Given the description of an element on the screen output the (x, y) to click on. 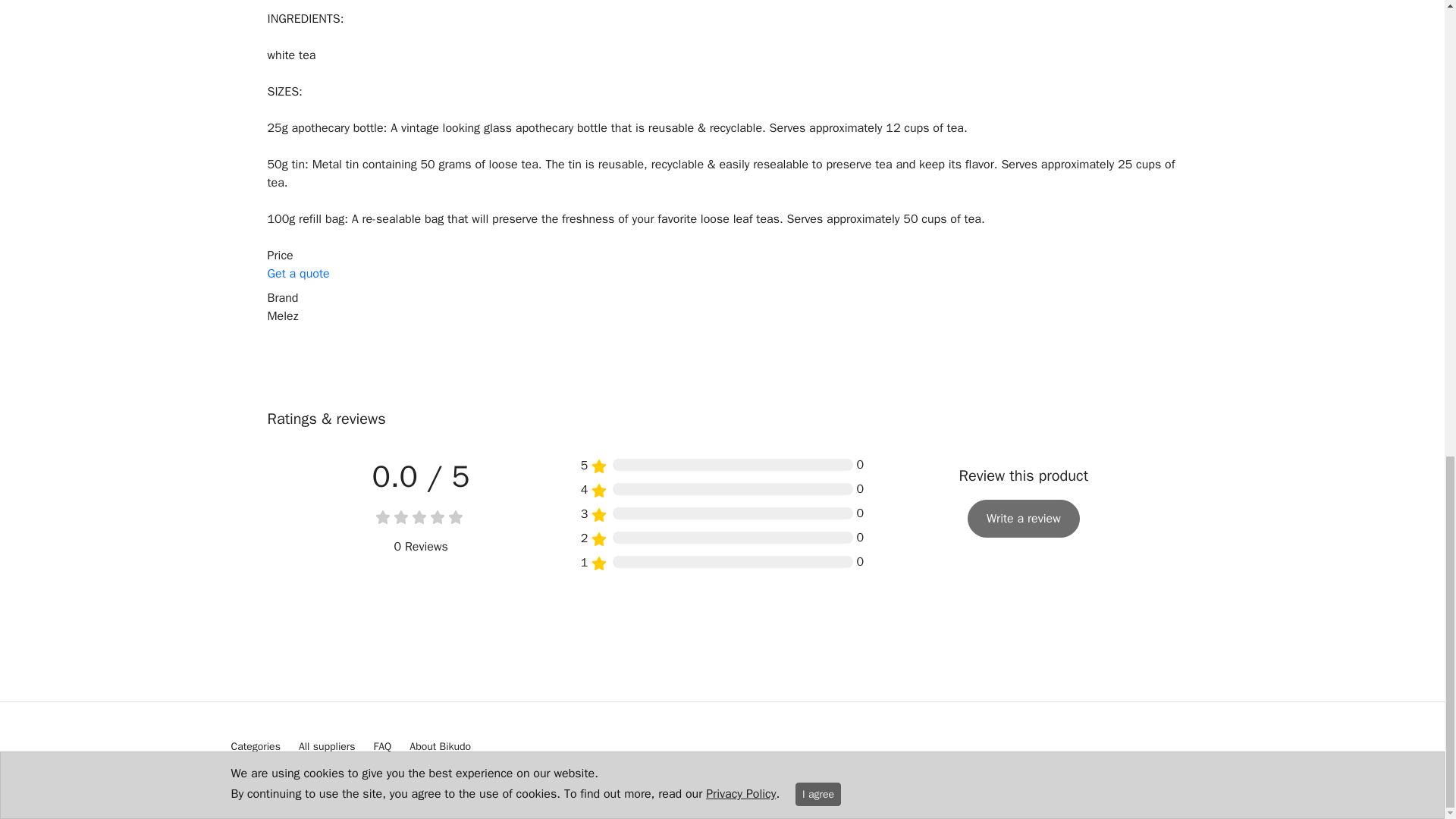
FAQ (382, 746)
About Bikudo (439, 746)
Categories (254, 746)
Terms of Use (342, 774)
Privacy (398, 774)
Write a review (1024, 518)
Get a quote (297, 273)
All suppliers (326, 746)
